Given the description of an element on the screen output the (x, y) to click on. 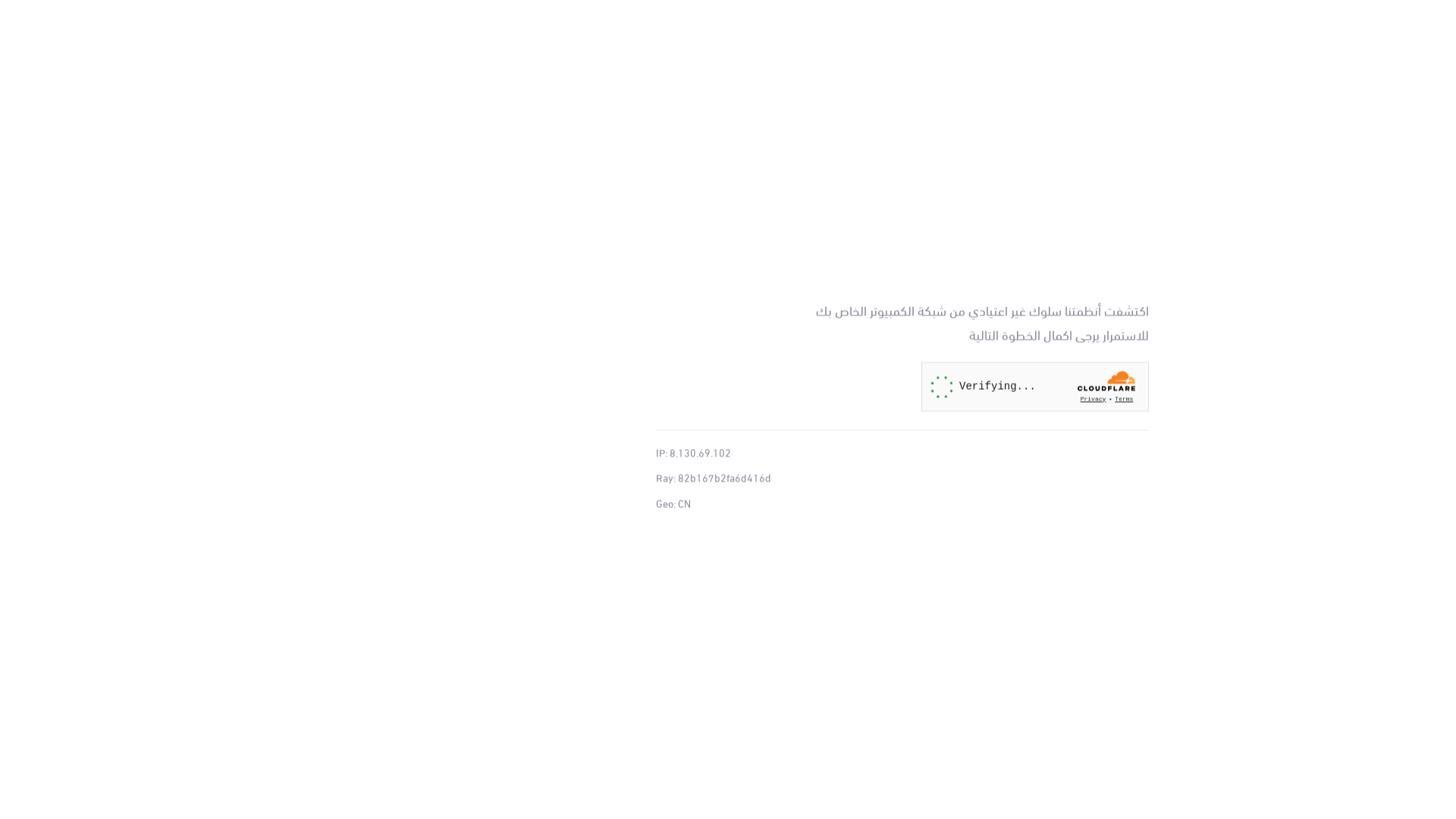
Widget containing a Cloudflare security challenge Element type: hover (1034, 386)
